Given the description of an element on the screen output the (x, y) to click on. 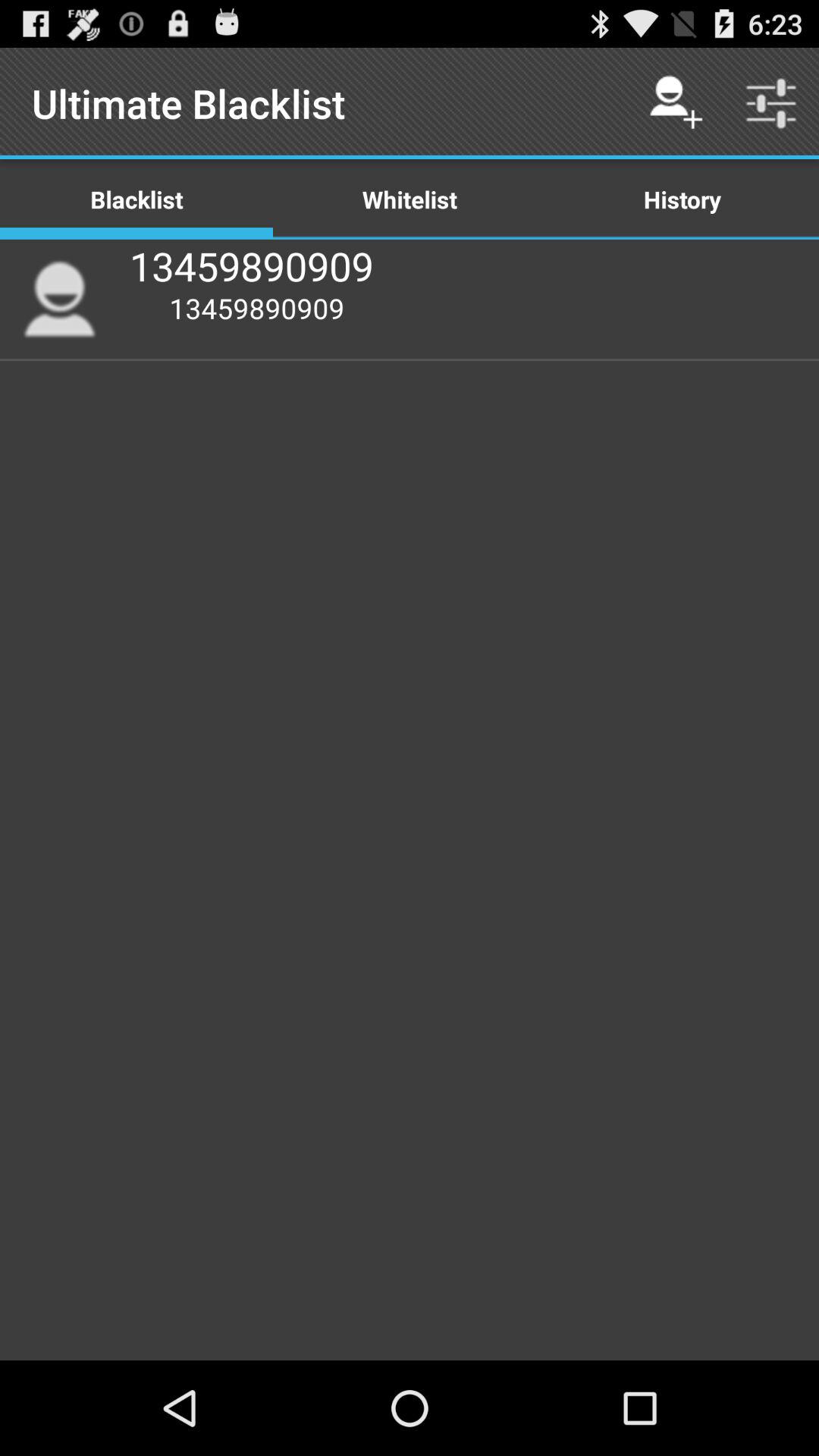
select icon to the left of the 13459890909 icon (59, 298)
